Given the description of an element on the screen output the (x, y) to click on. 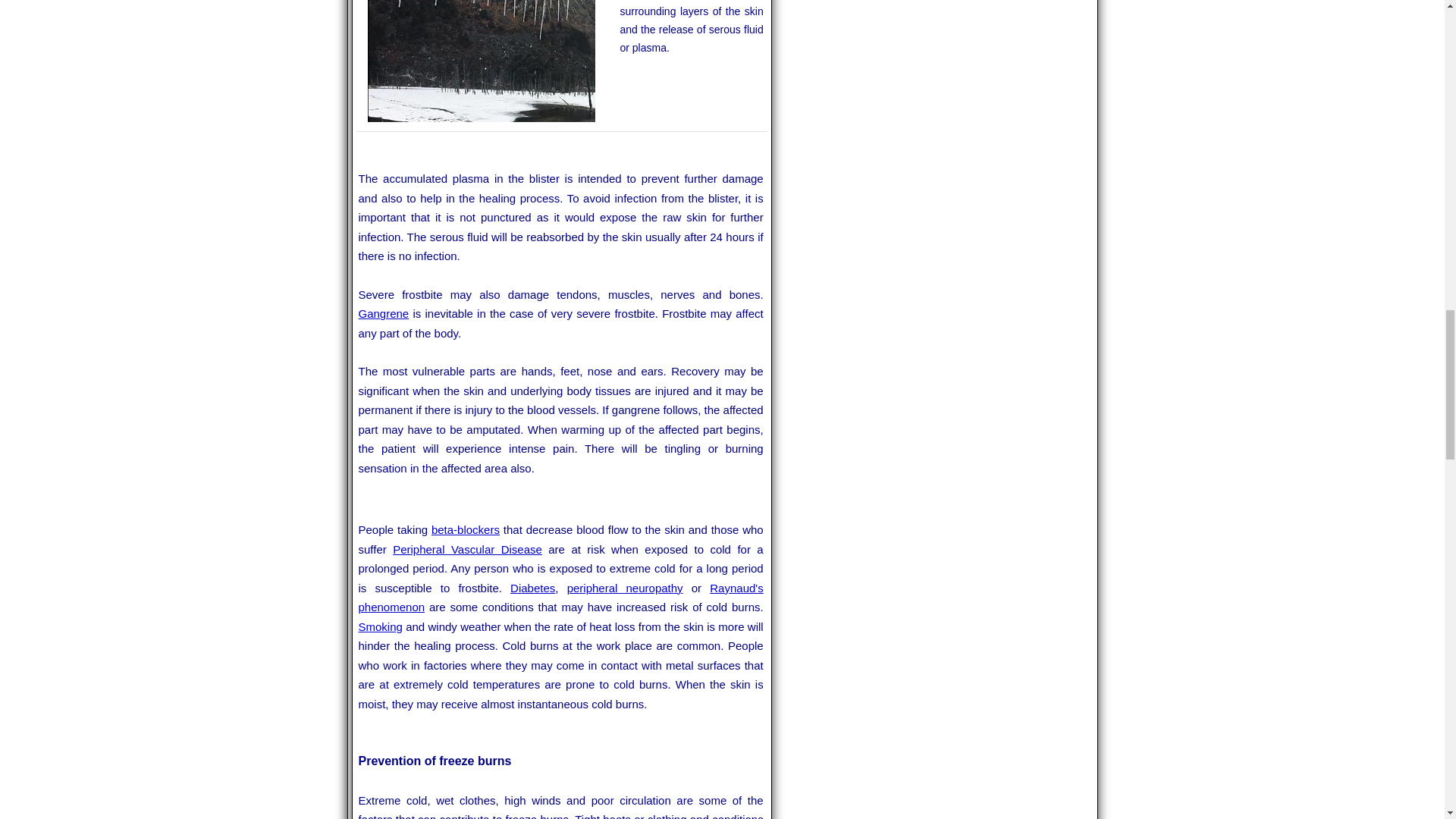
peripheral neuropathy (624, 587)
Smoking (379, 626)
Gangrene (383, 313)
Peripheral Vascular Disease (467, 549)
Peripheral Vascular Disease (467, 549)
Gangrene (383, 313)
Raynaud's phenomenon (560, 597)
Diabetes (532, 587)
beta-blockers (464, 529)
beta-blockers (464, 529)
peripheral neuropathy (624, 587)
Raynaud's phenomenon (560, 597)
Diabetes (532, 587)
